Given the description of an element on the screen output the (x, y) to click on. 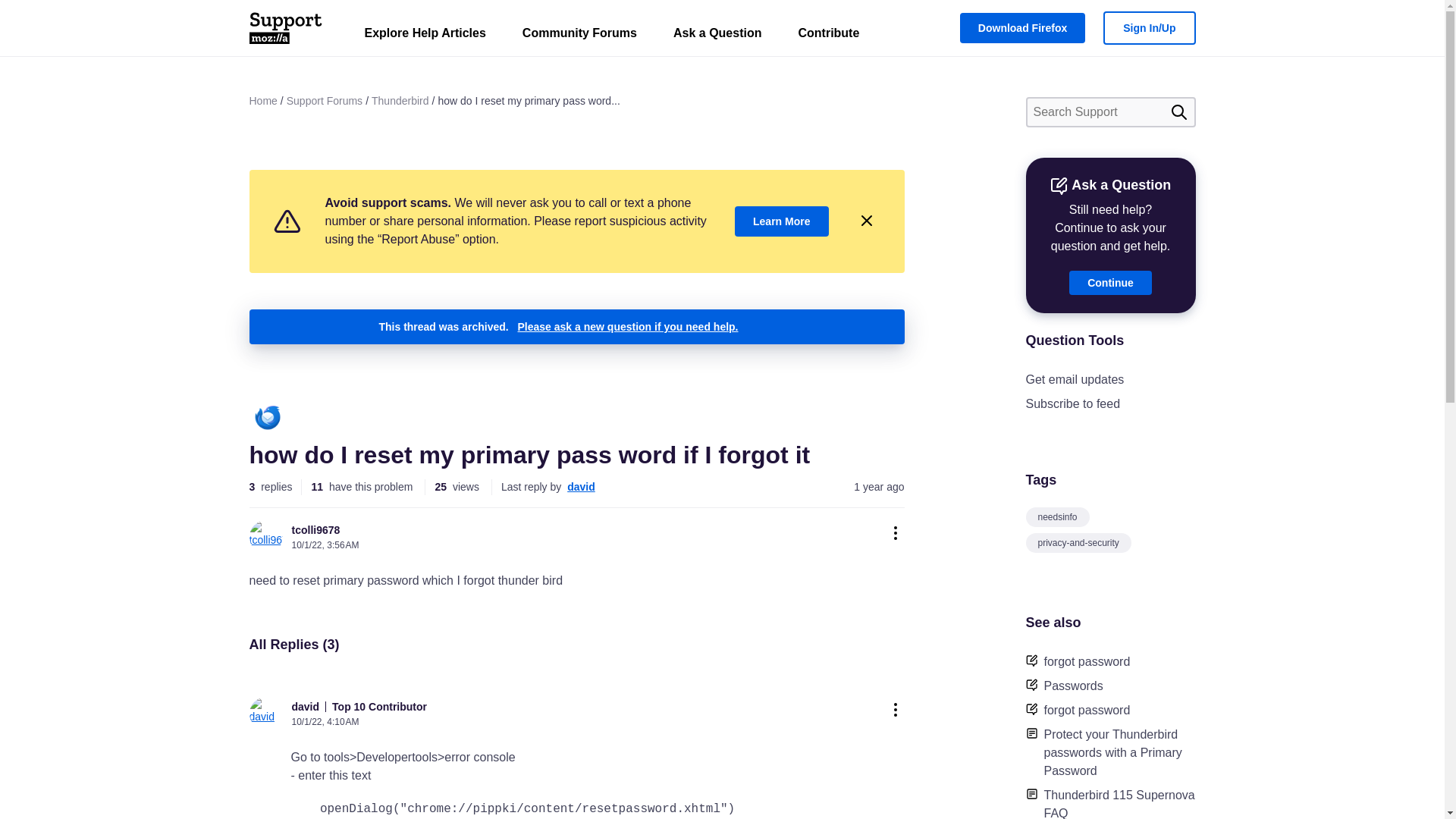
Community Forums (579, 37)
Explore Help Articles (424, 37)
Search (1178, 111)
Ask a Question (716, 37)
